Given the description of an element on the screen output the (x, y) to click on. 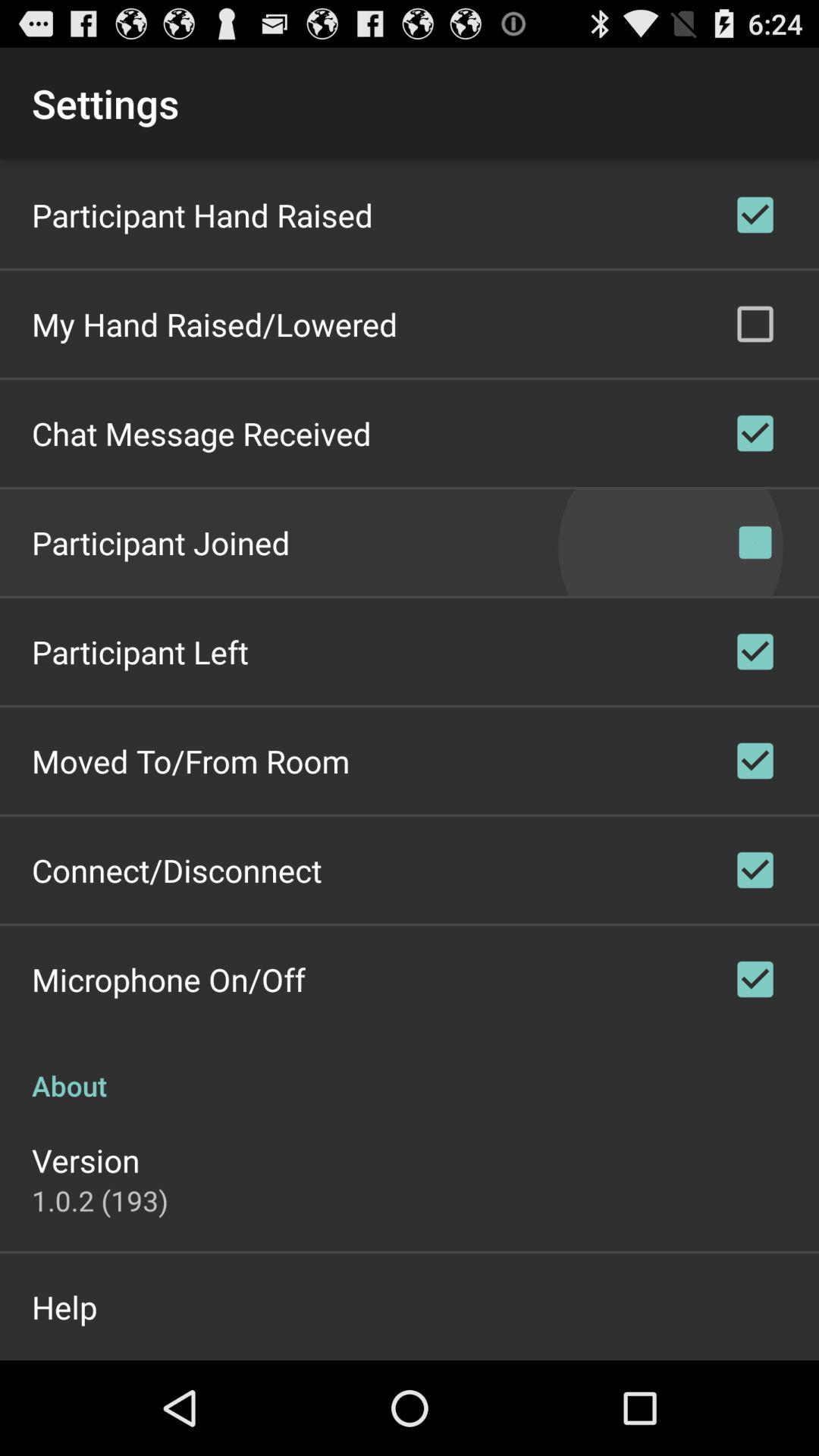
tap the icon above about (168, 979)
